Given the description of an element on the screen output the (x, y) to click on. 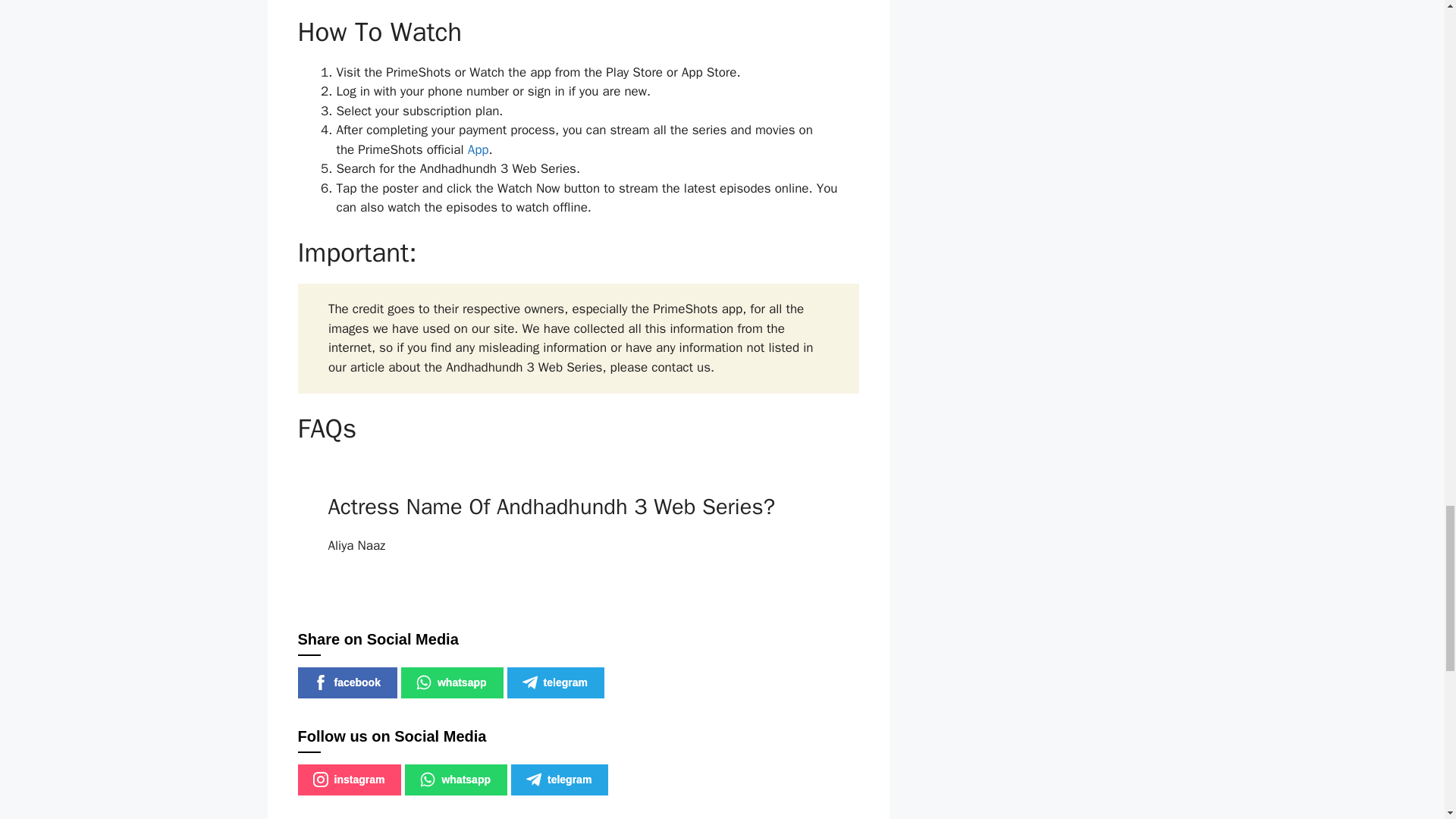
whatsapp (455, 779)
telegram (559, 779)
whatsapp (452, 682)
telegram (555, 682)
facebook (346, 682)
instagram (349, 779)
App (478, 149)
